Given the description of an element on the screen output the (x, y) to click on. 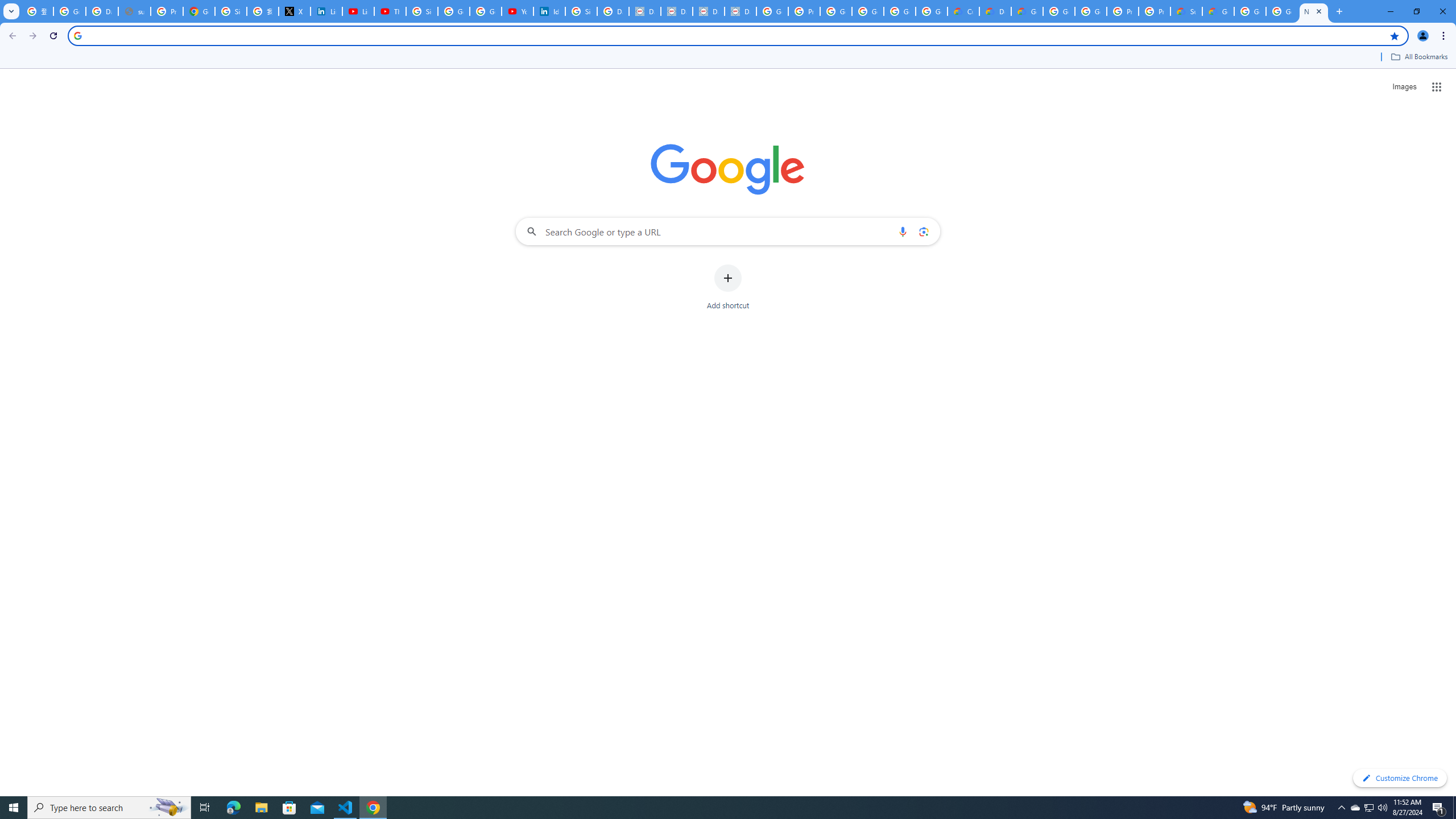
Data Privacy Framework (644, 11)
Google Workspace - Specific Terms (899, 11)
Privacy Help Center - Policies Help (166, 11)
LinkedIn - YouTube (358, 11)
Gemini for Business and Developers | Google Cloud (1027, 11)
X (294, 11)
